Given the description of an element on the screen output the (x, y) to click on. 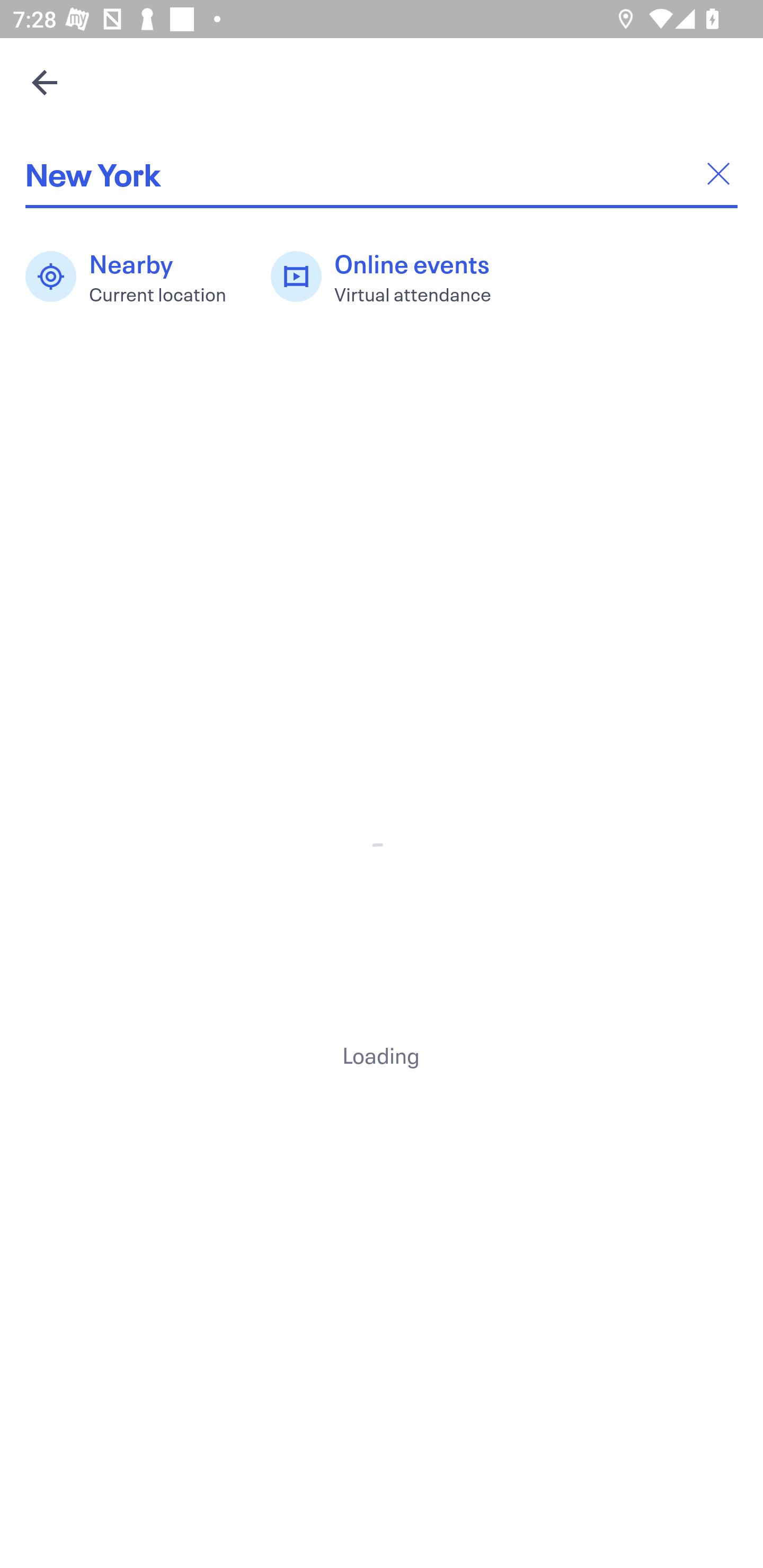
Navigate up (44, 82)
New York (381, 173)
Nearby Current location (135, 276)
Online events Virtual attendance (390, 276)
